Given the description of an element on the screen output the (x, y) to click on. 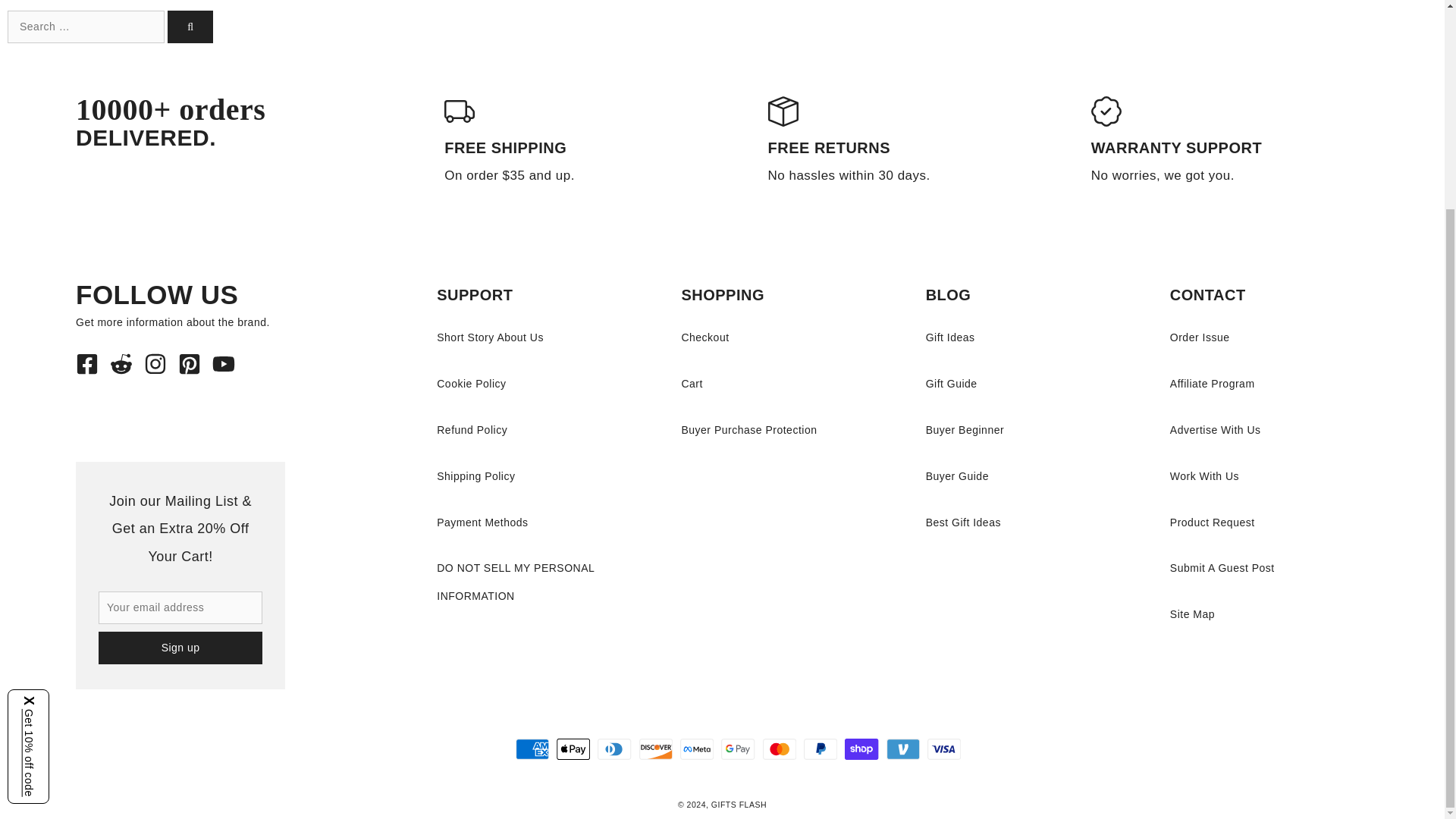
Apple Pay (572, 749)
Venmo (903, 749)
Discover (655, 749)
Mastercard (779, 749)
American Express (531, 749)
Diners Club (613, 749)
Search for: (85, 26)
Sign up (180, 647)
PayPal (820, 749)
Meta Pay (696, 749)
